Given the description of an element on the screen output the (x, y) to click on. 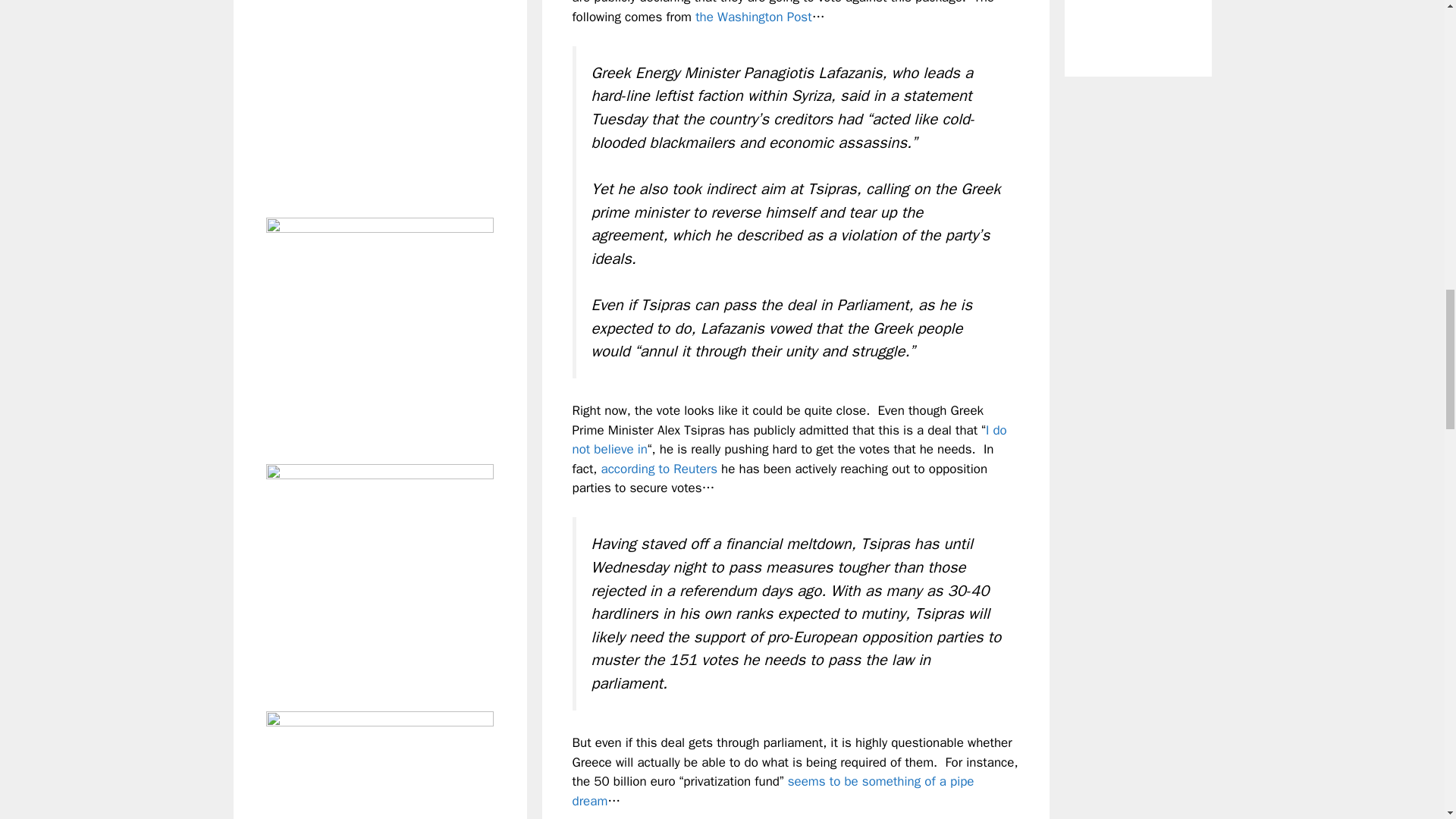
I do not believe in (789, 439)
according to Reuters (659, 468)
the Washington Post (752, 17)
seems to be something of a pipe dream (773, 791)
